Given the description of an element on the screen output the (x, y) to click on. 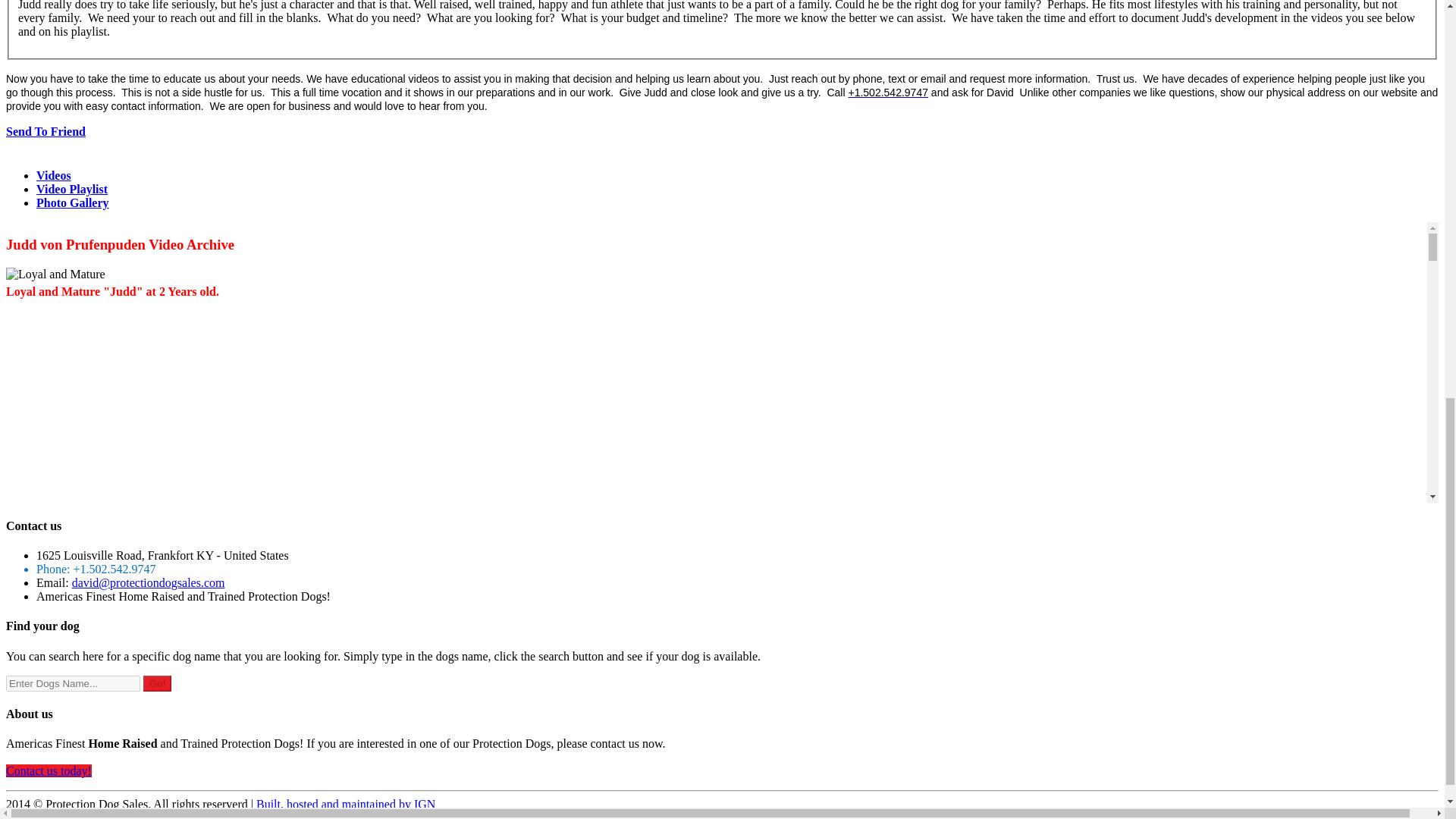
Loyal and Mature  (54, 274)
Offleash Halloween Agility Course Fun With  (121, 775)
Video Playlist (71, 188)
Fun Obedient Mature Male  (78, 524)
Email Us (148, 582)
Send To Friend (45, 131)
Videos (53, 174)
